Given the description of an element on the screen output the (x, y) to click on. 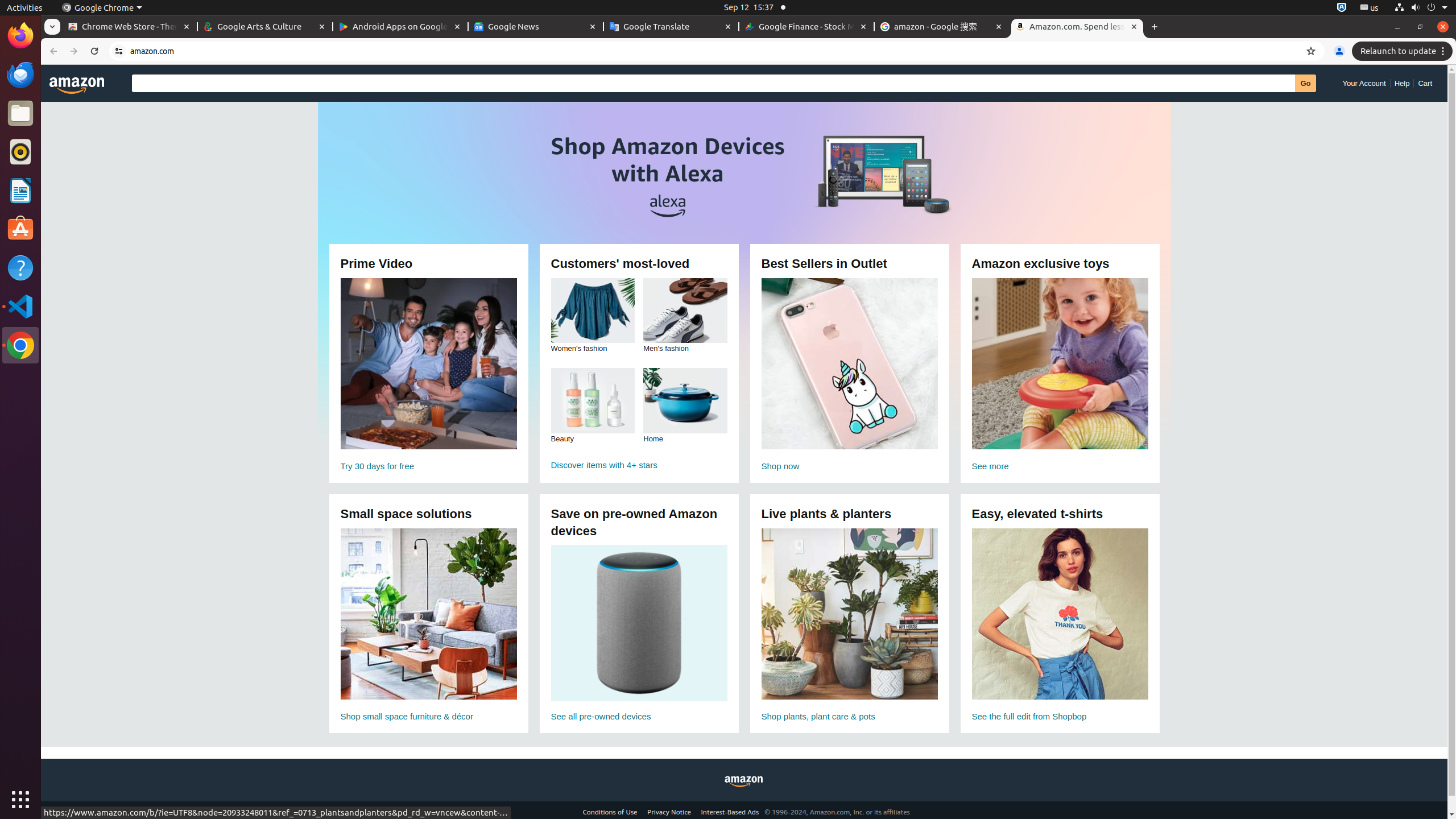
Interest-Based Ads Element type: link (729, 811)
Help Element type: link (1401, 83)
Discover items with 4+ stars Element type: link (638, 464)
Easy, elevated t-shirts See the full edit from Shopbop Element type: link (1059, 625)
New Tab Element type: push-button (1154, 26)
